Given the description of an element on the screen output the (x, y) to click on. 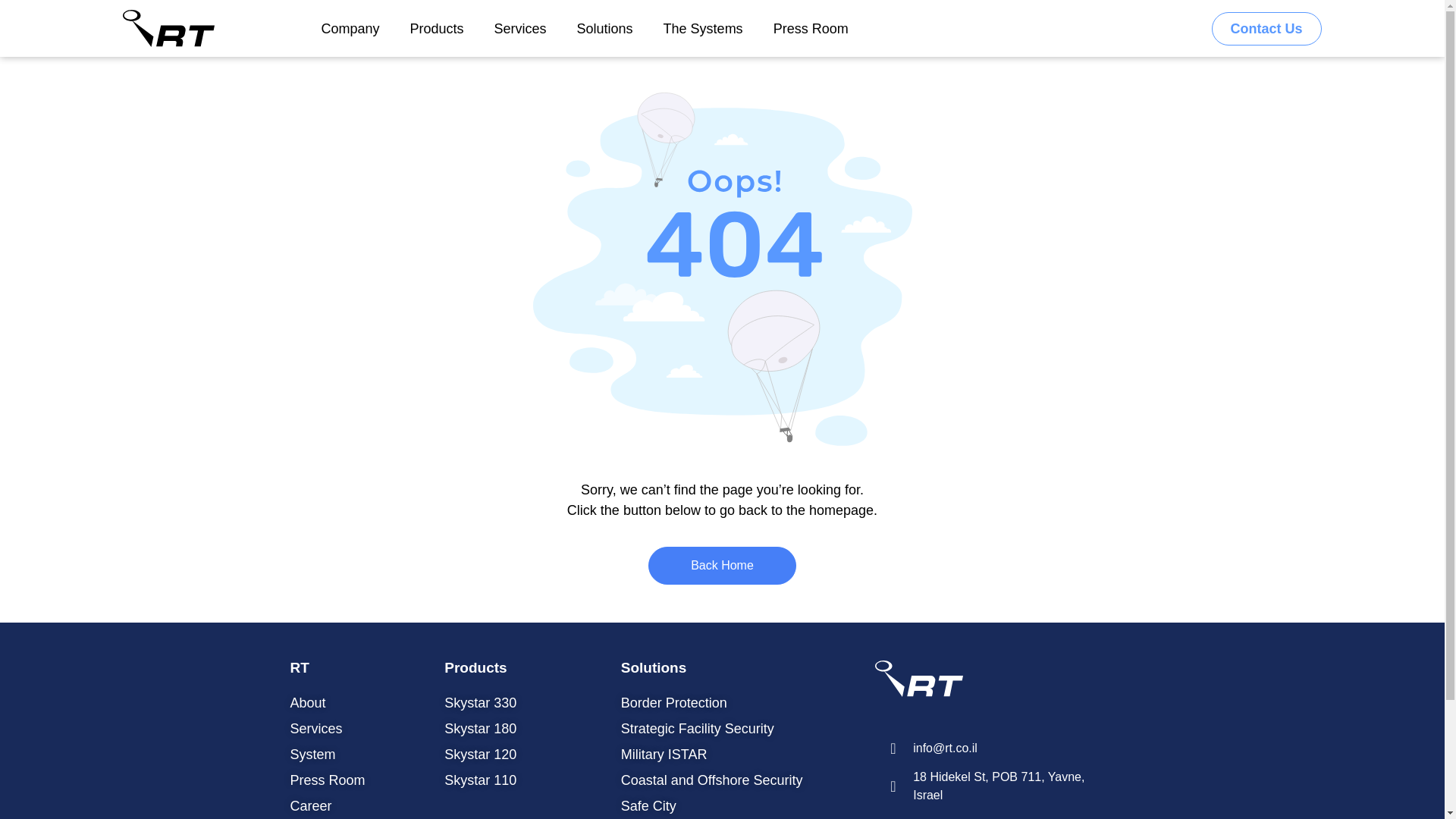
Solutions (604, 27)
Press Room (810, 27)
The Systems (702, 27)
Services (520, 27)
Company (349, 27)
Products (436, 27)
